Given the description of an element on the screen output the (x, y) to click on. 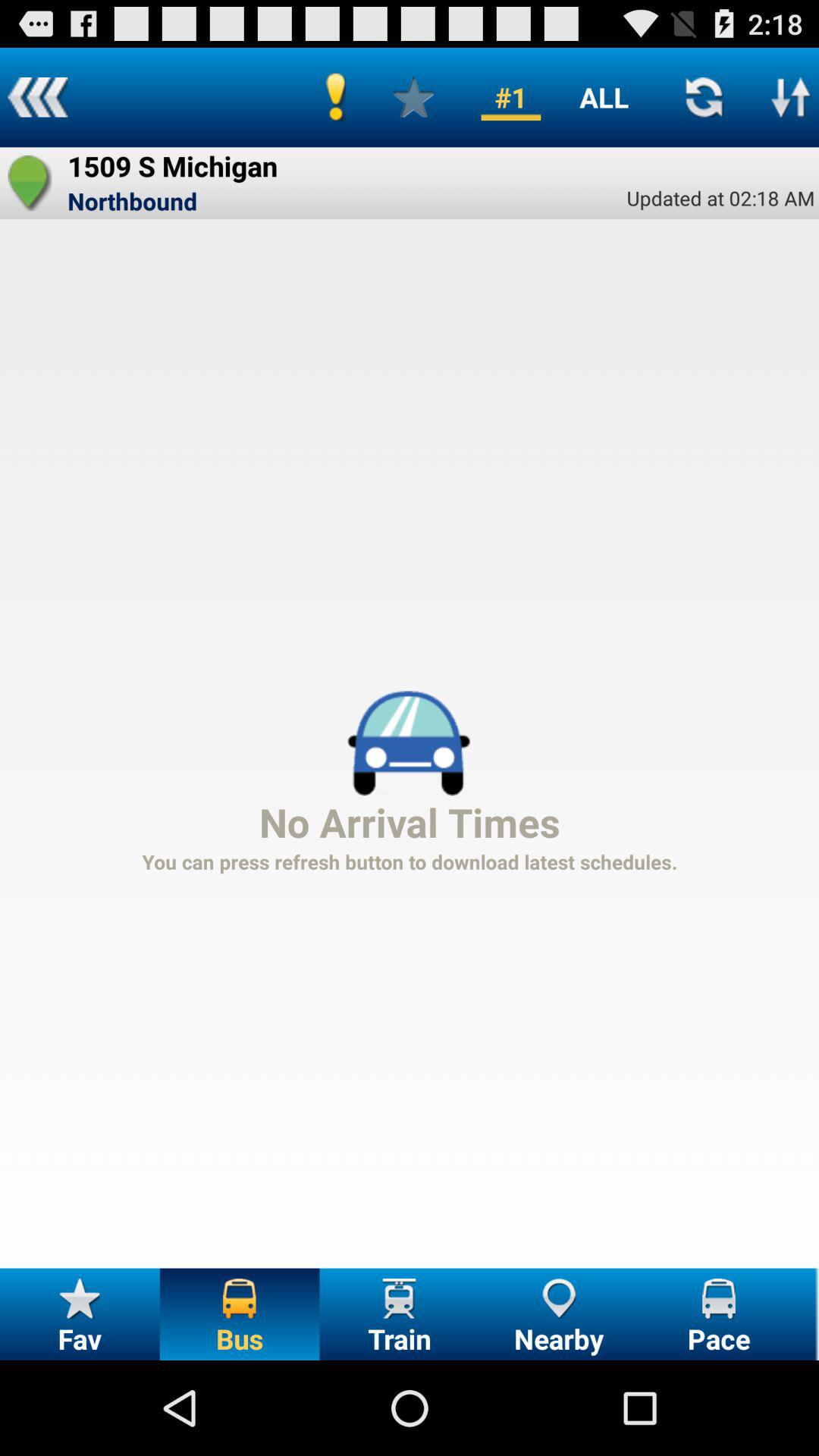
order page (791, 97)
